Given the description of an element on the screen output the (x, y) to click on. 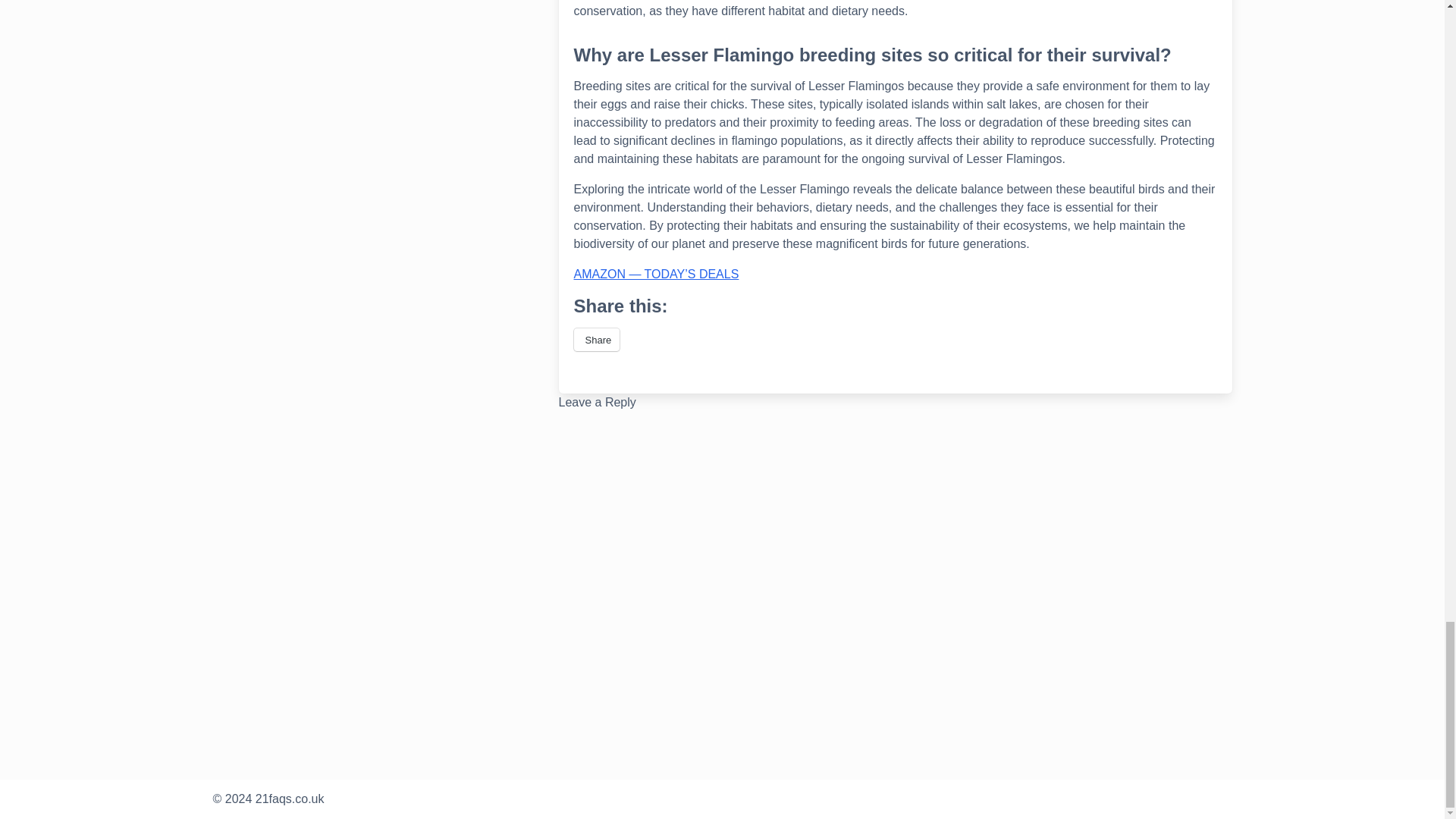
Share (596, 339)
